Given the description of an element on the screen output the (x, y) to click on. 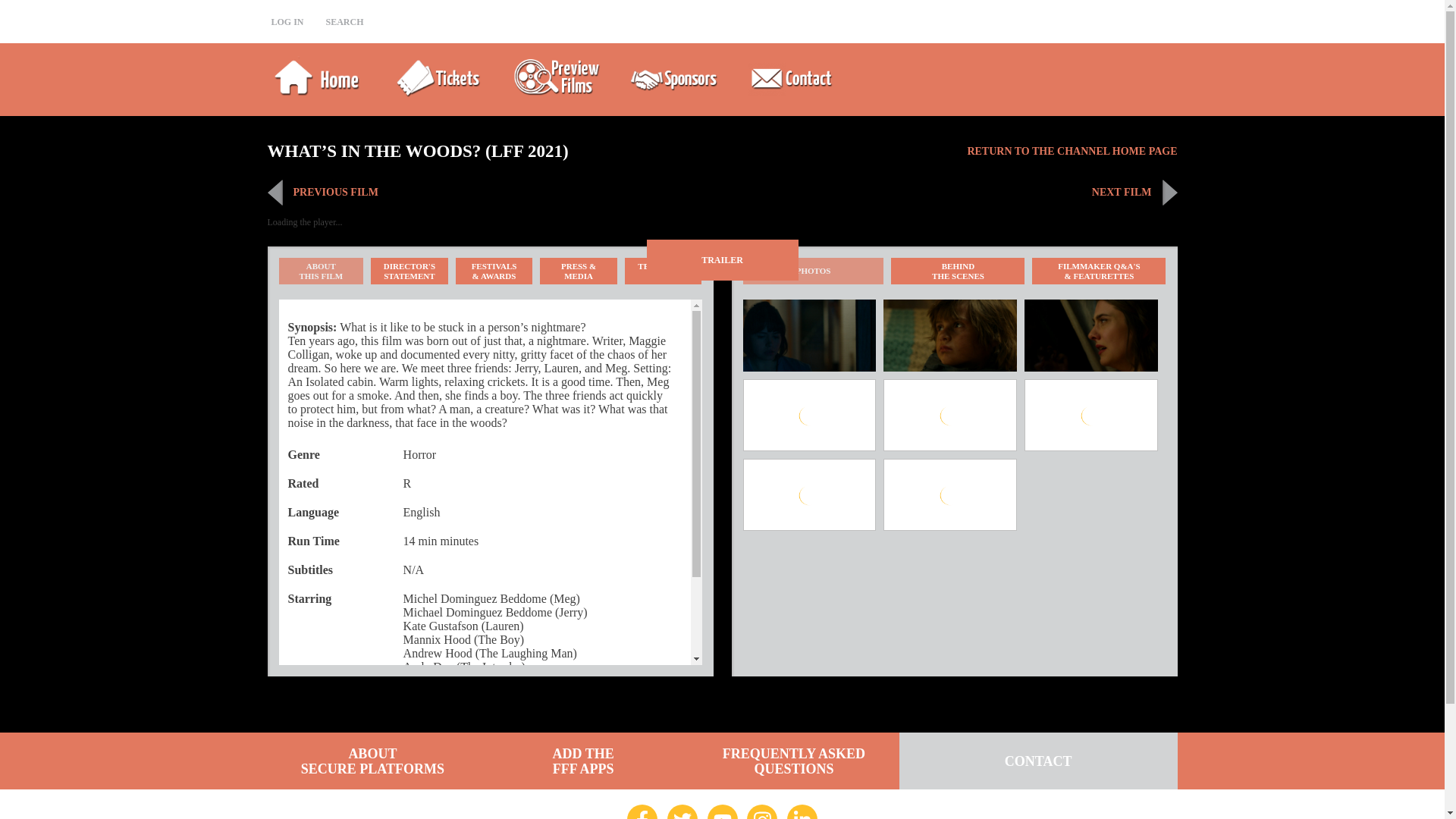
RETURN TO THE CHANNEL HOME PAGE (409, 270)
PREVIOUS FILM (958, 270)
TRAILER (1071, 150)
LOG IN (321, 270)
NEXT FILM (494, 192)
PHOTOS (662, 270)
SEARCH (721, 259)
